Given the description of an element on the screen output the (x, y) to click on. 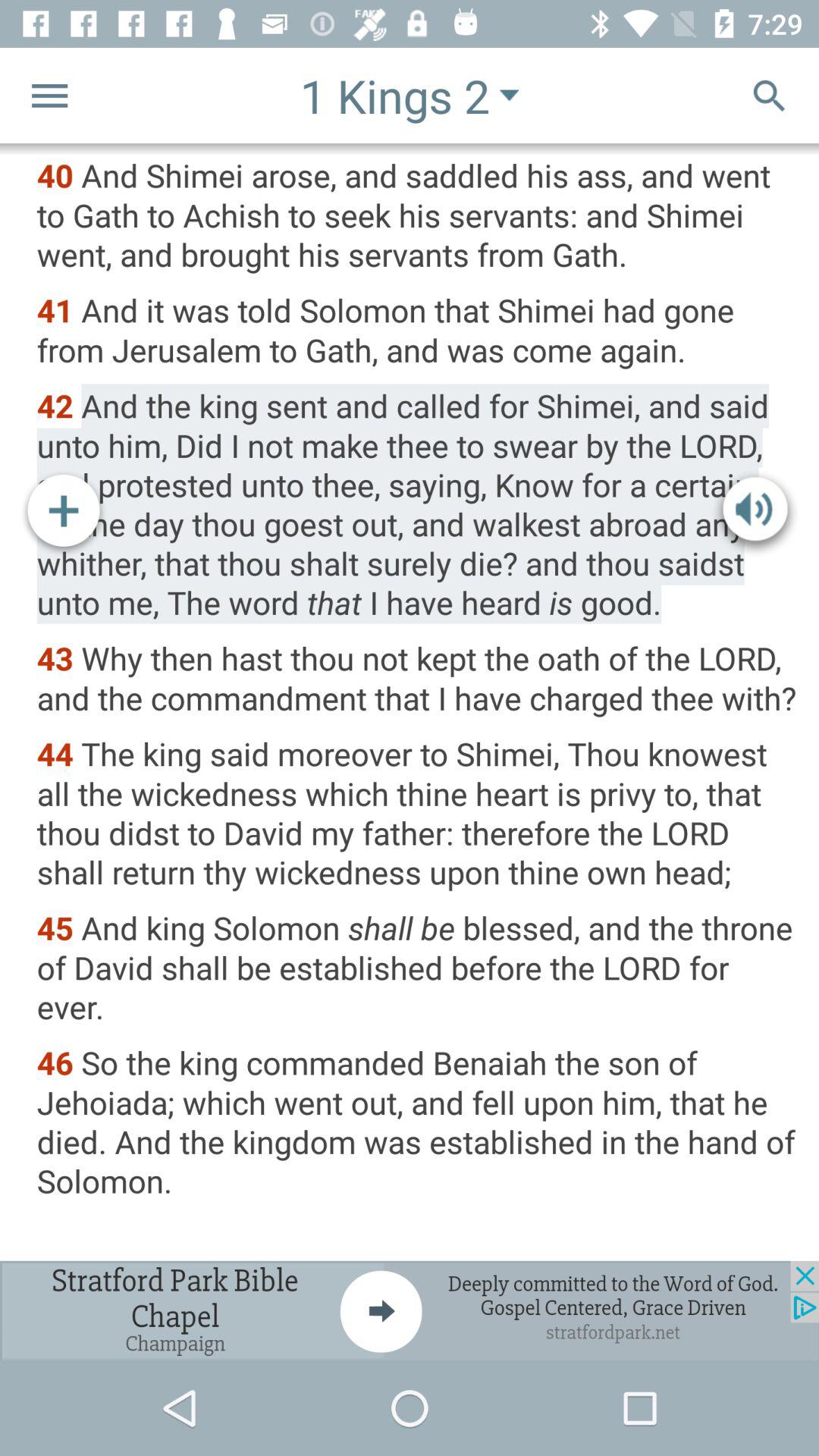
advertisement (409, 1310)
